Given the description of an element on the screen output the (x, y) to click on. 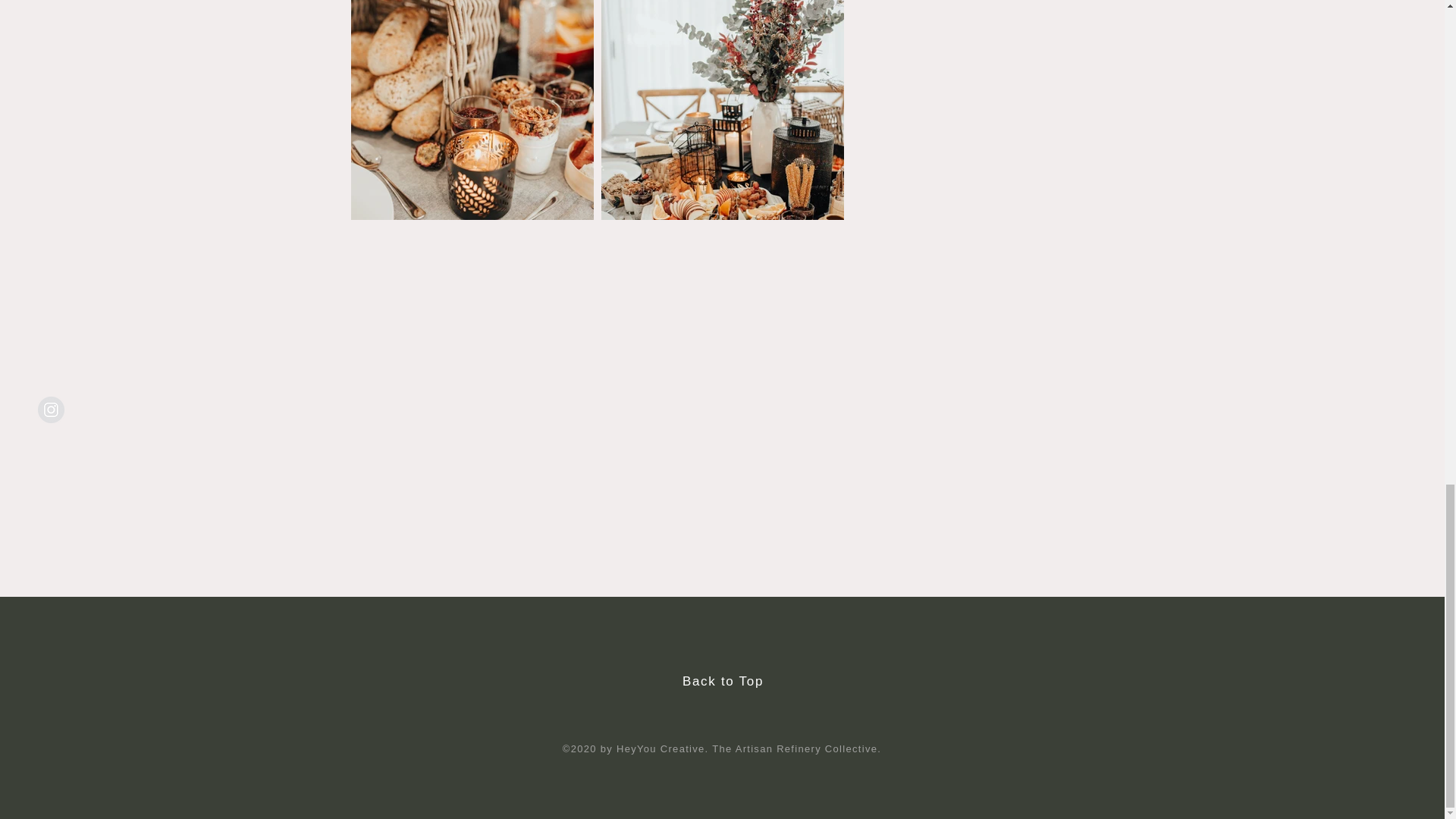
Back to Top (722, 681)
